Given the description of an element on the screen output the (x, y) to click on. 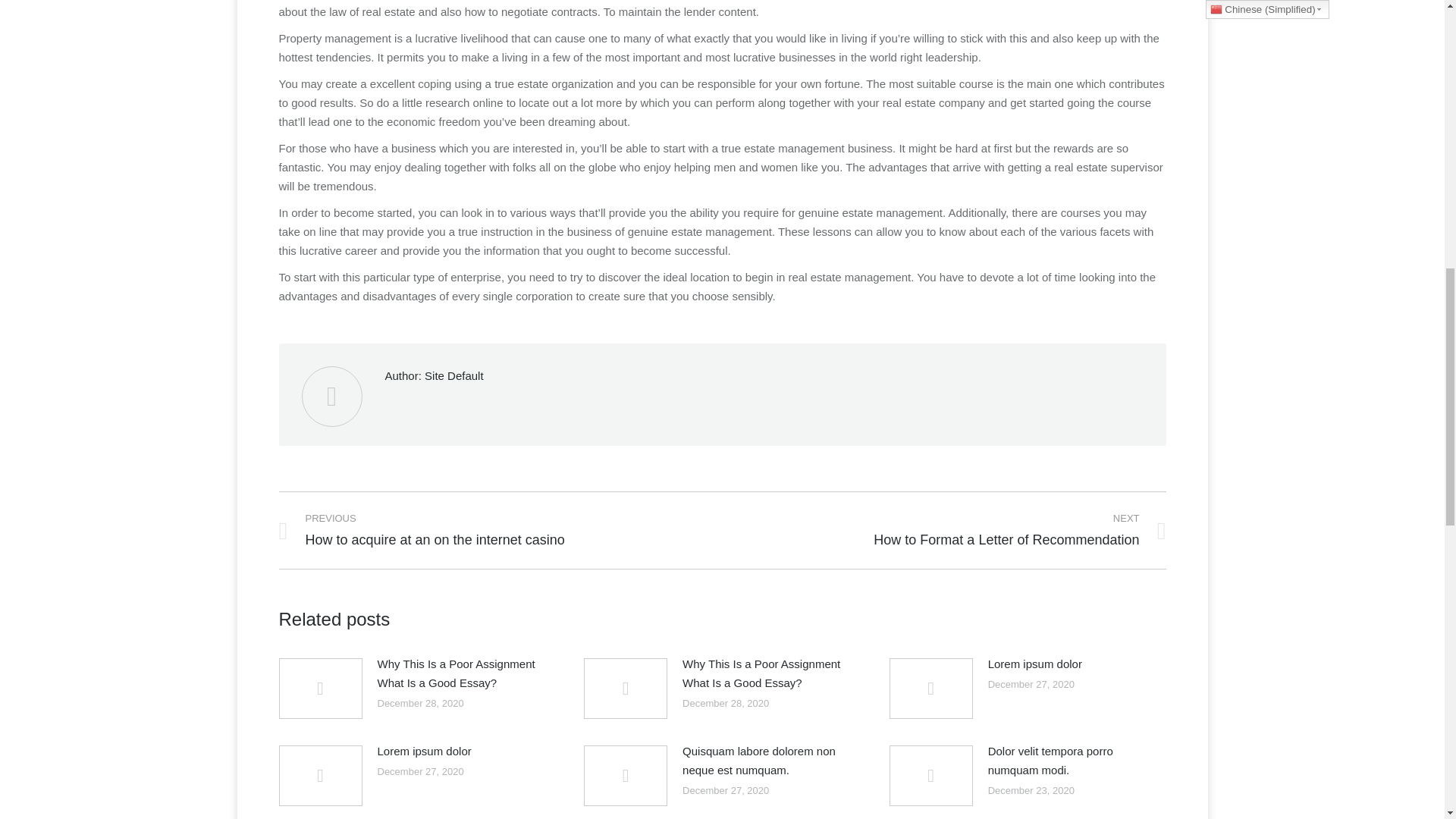
Why This Is a Poor Assignment What Is a Good Essay? (462, 673)
Lorem ipsum dolor (955, 530)
Why This Is a Poor Assignment What Is a Good Essay? (1034, 663)
